Given the description of an element on the screen output the (x, y) to click on. 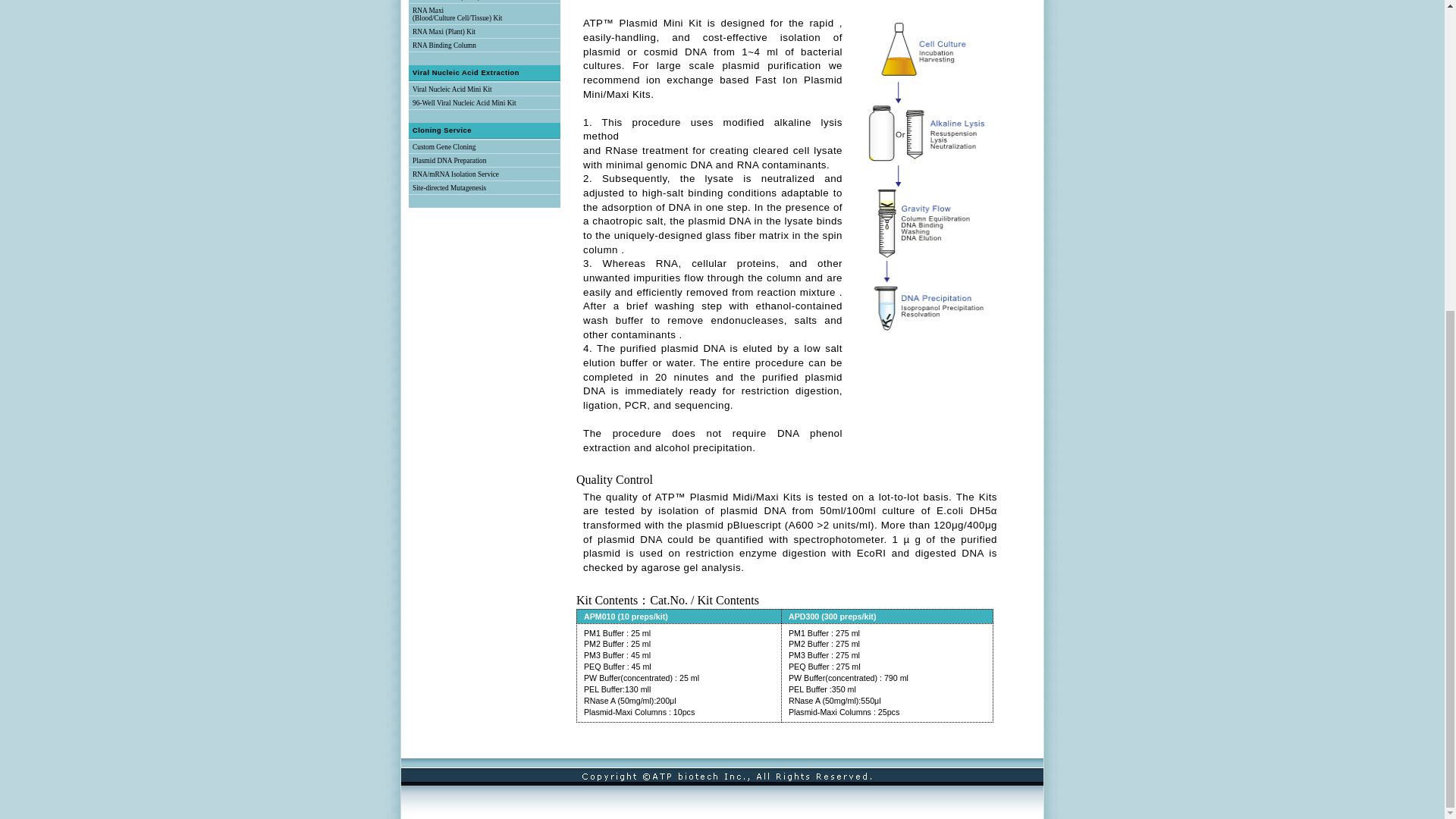
Custom Gene Cloning (444, 146)
RNA Binding Column (444, 45)
Viral Nucleic Acid Mini Kit (452, 89)
96-Well Viral Nucleic Acid Mini Kit (464, 103)
Site-directed Mutagenesis (449, 187)
Plasmid DNA Preparation (449, 160)
